Given the description of an element on the screen output the (x, y) to click on. 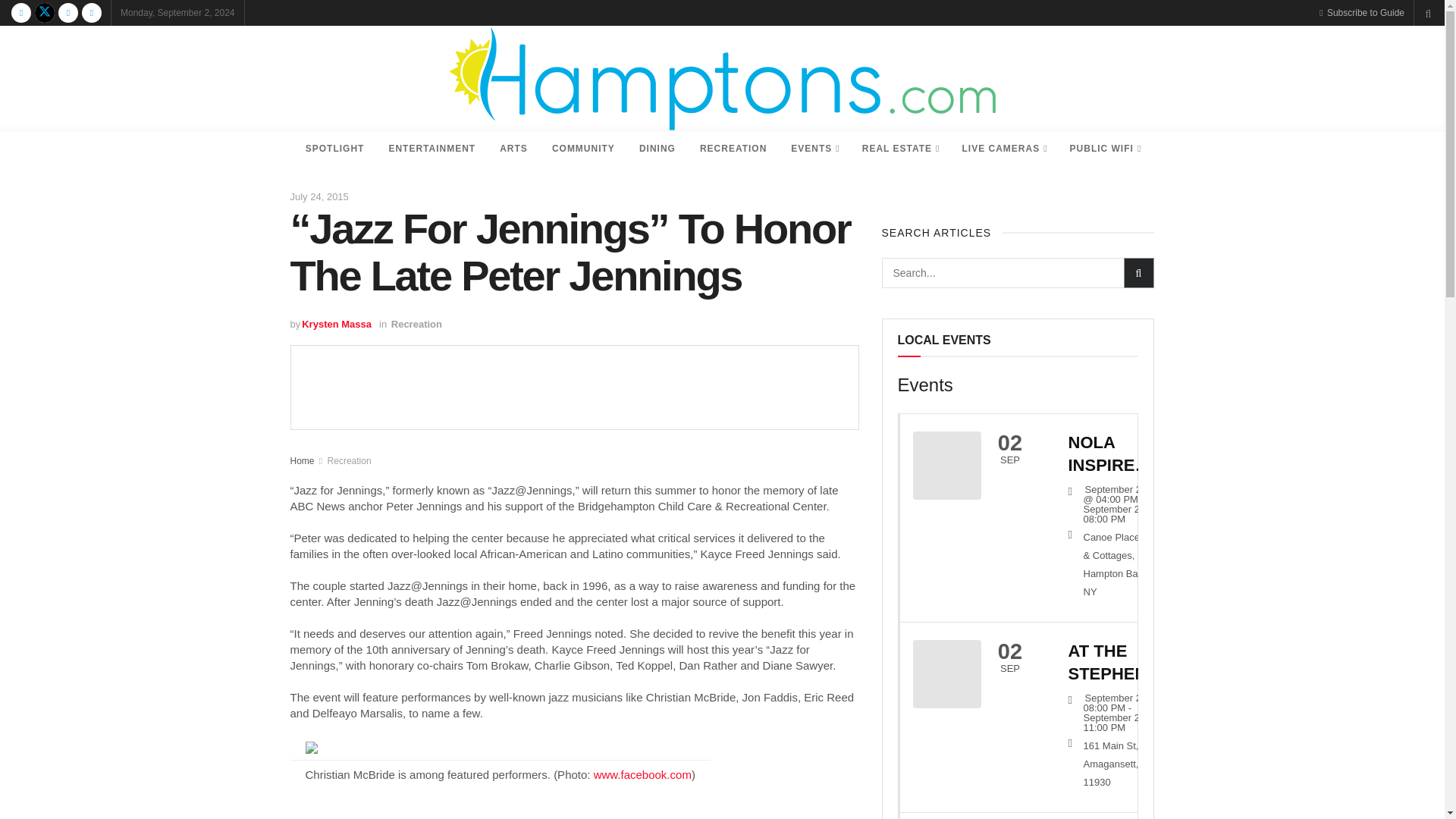
RECREATION (732, 148)
ARTS (513, 148)
EVENTS (813, 148)
Subscribe to Guide (1362, 12)
DINING (657, 148)
ENTERTAINMENT (431, 148)
REAL ESTATE (900, 148)
COMMUNITY (583, 148)
LIVE CAMERAS (1003, 148)
SPOTLIGHT (335, 148)
